Given the description of an element on the screen output the (x, y) to click on. 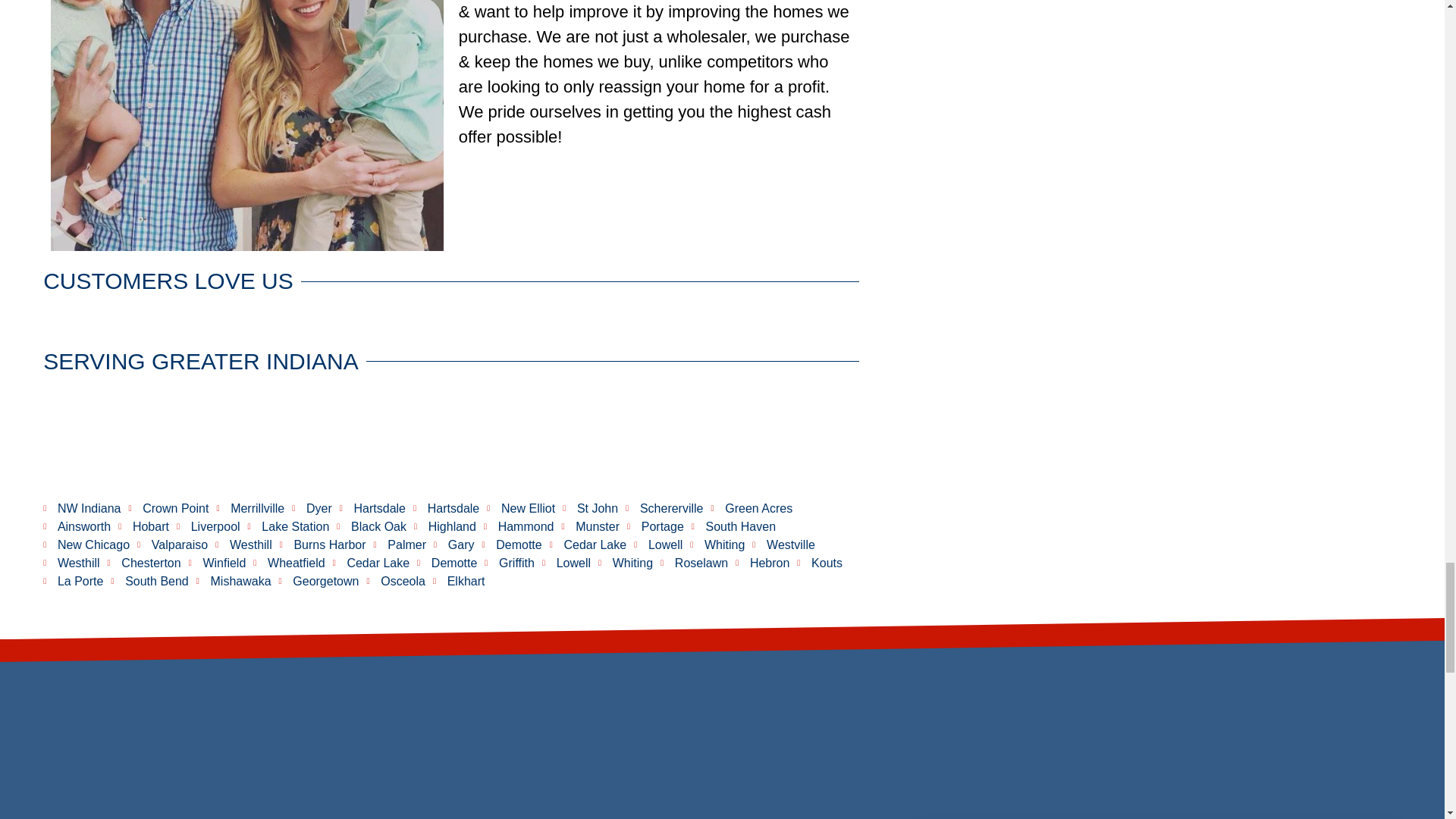
St John, IN, in (451, 441)
